Given the description of an element on the screen output the (x, y) to click on. 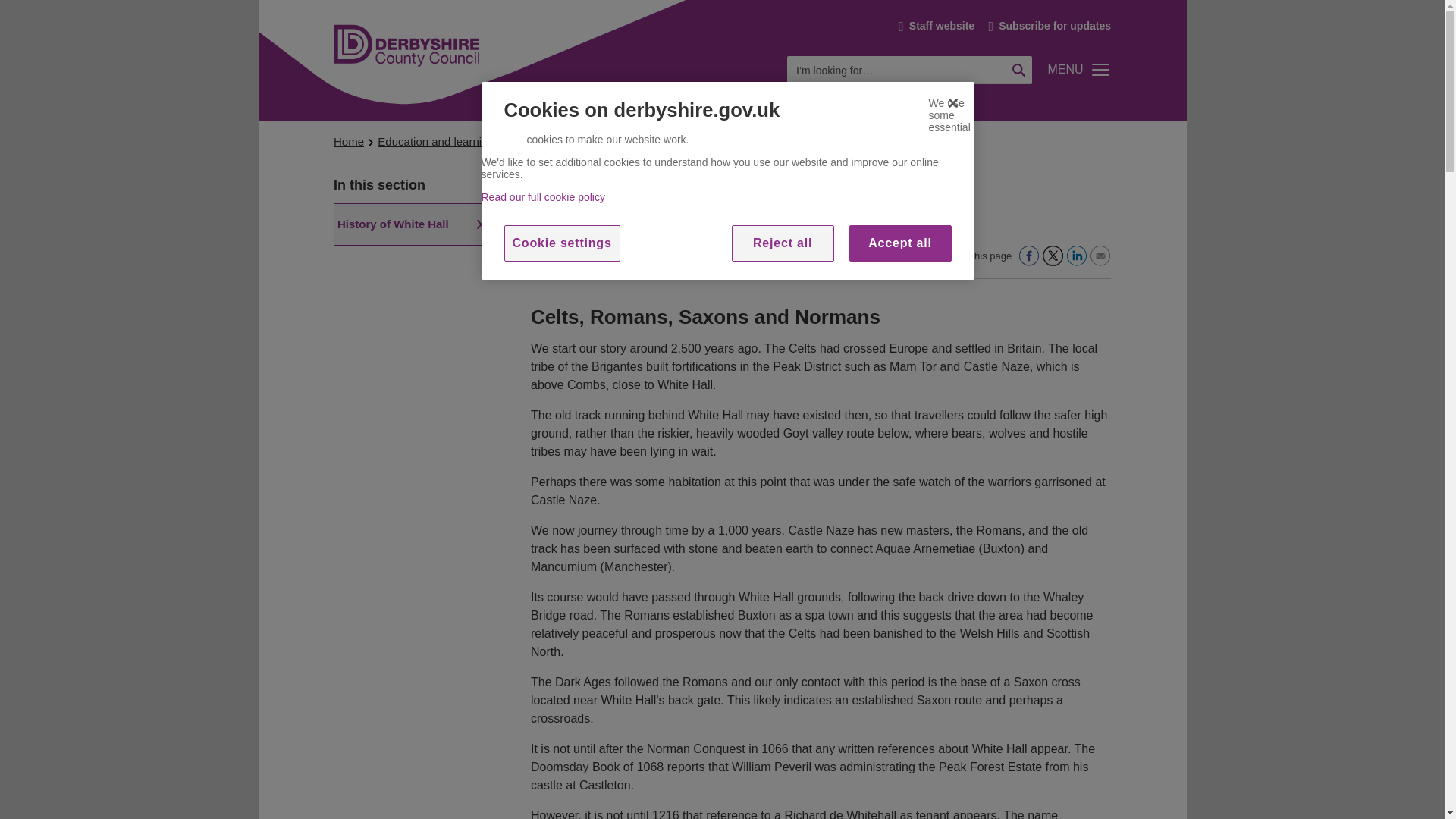
Outdoor learning (550, 141)
Go to White Hall from here (632, 141)
Derbyshire County Council (406, 36)
About White Hall (714, 141)
Go to Education and learning from here (435, 141)
Education and learning (435, 141)
Home (348, 141)
Go to Home from here (348, 141)
Go to Outdoor learning from here (550, 141)
Go to About White Hall from here (714, 141)
